Given the description of an element on the screen output the (x, y) to click on. 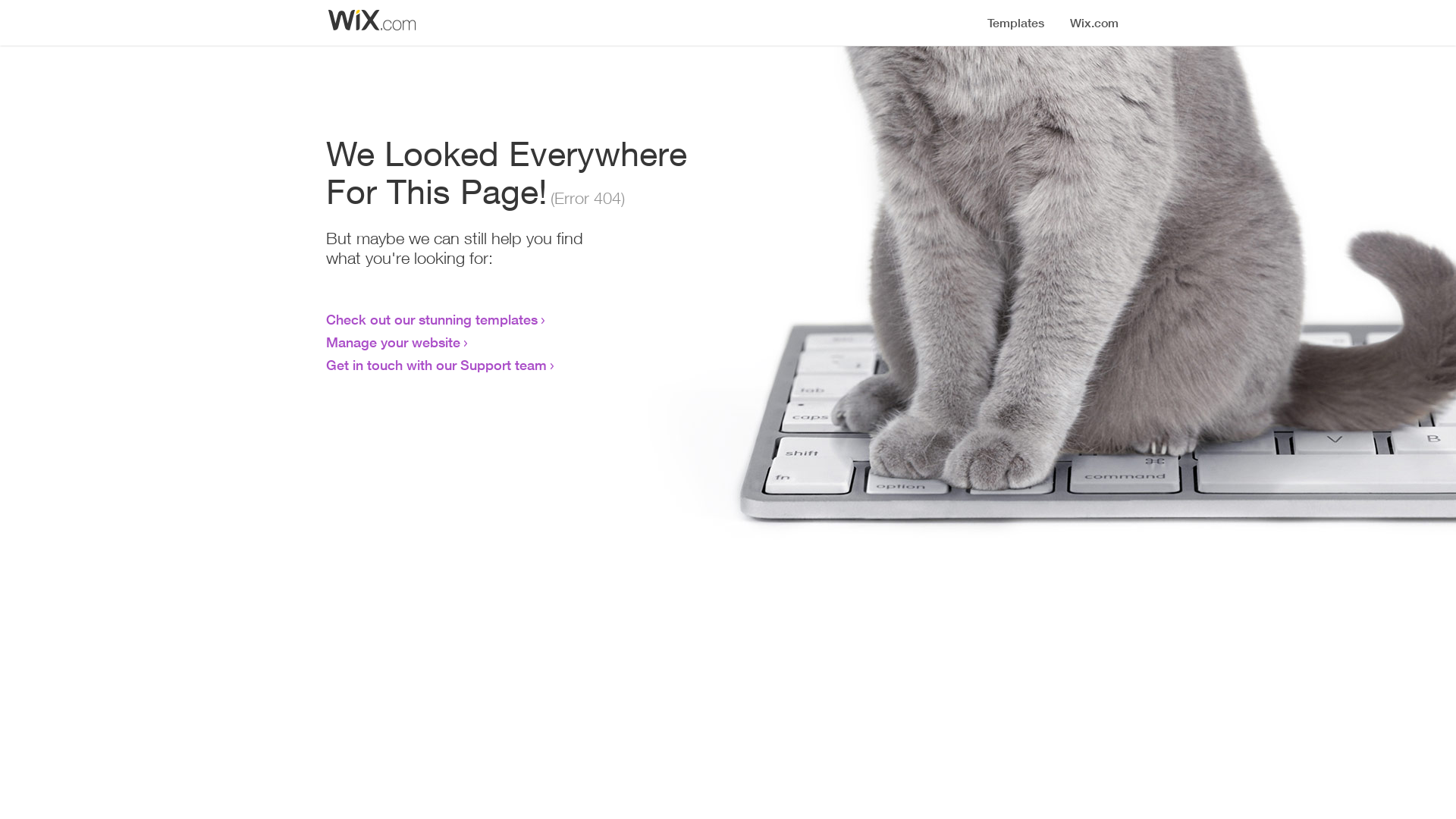
Manage your website Element type: text (393, 341)
Get in touch with our Support team Element type: text (436, 364)
Check out our stunning templates Element type: text (431, 318)
